Given the description of an element on the screen output the (x, y) to click on. 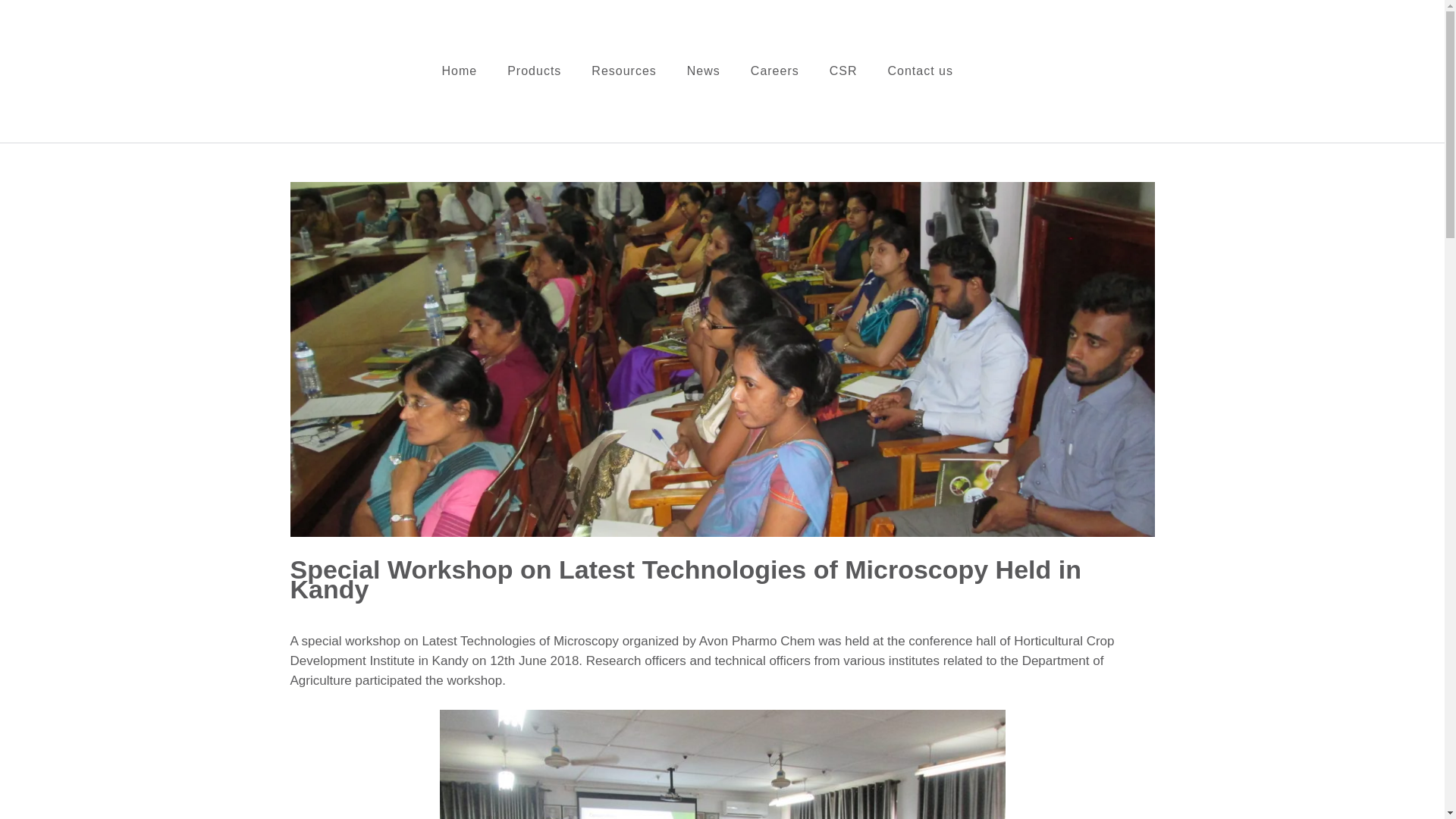
Products (533, 70)
Resources (623, 70)
Avon Pharmo Chem (518, 80)
News (703, 70)
Careers (775, 70)
Contact us (920, 70)
Home (459, 70)
CSR (843, 70)
